Given the description of an element on the screen output the (x, y) to click on. 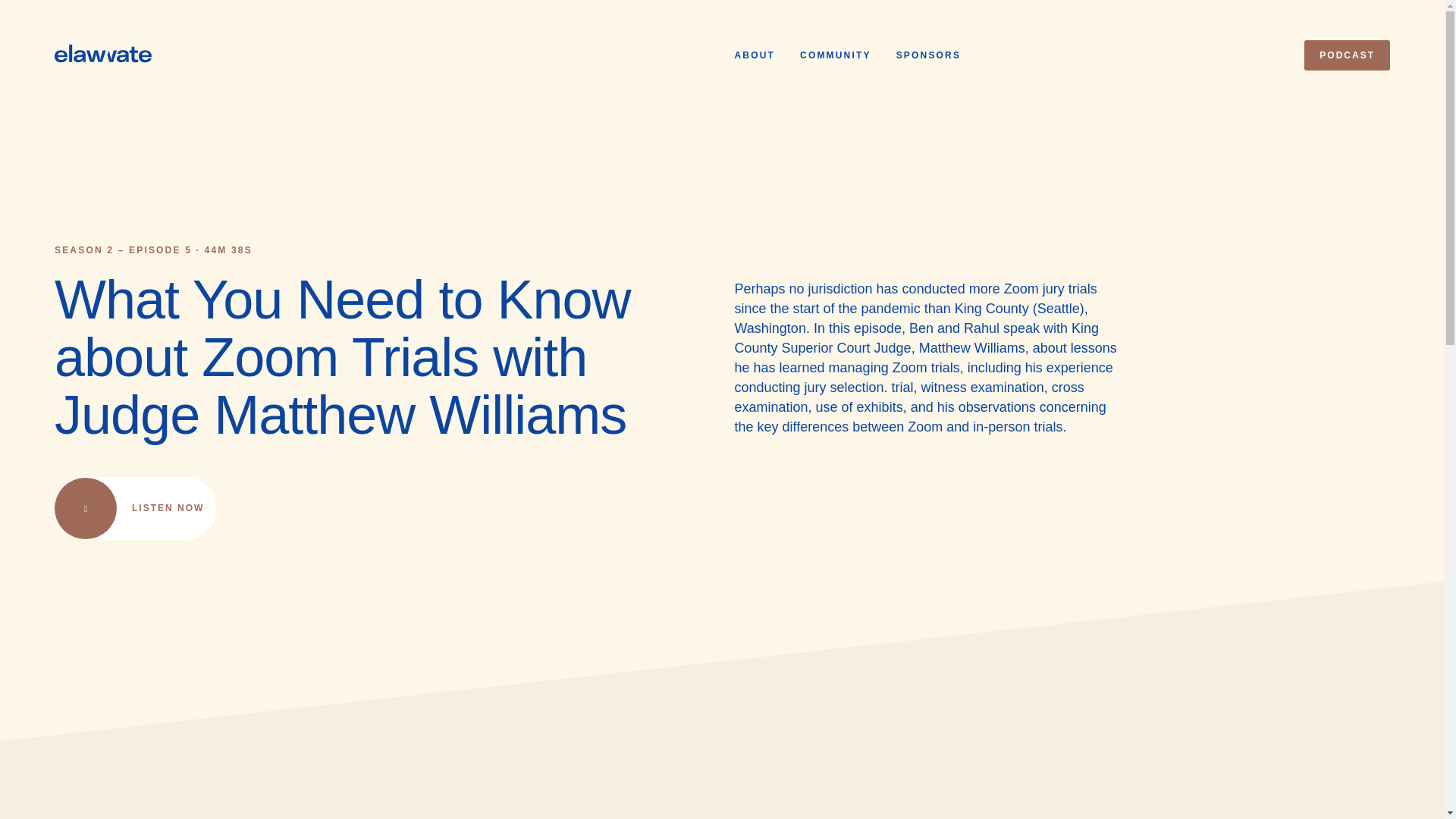
SPONSORS (928, 55)
LISTEN NOW (135, 507)
COMMUNITY (834, 55)
PODCAST (1347, 55)
ABOUT (753, 55)
